Given the description of an element on the screen output the (x, y) to click on. 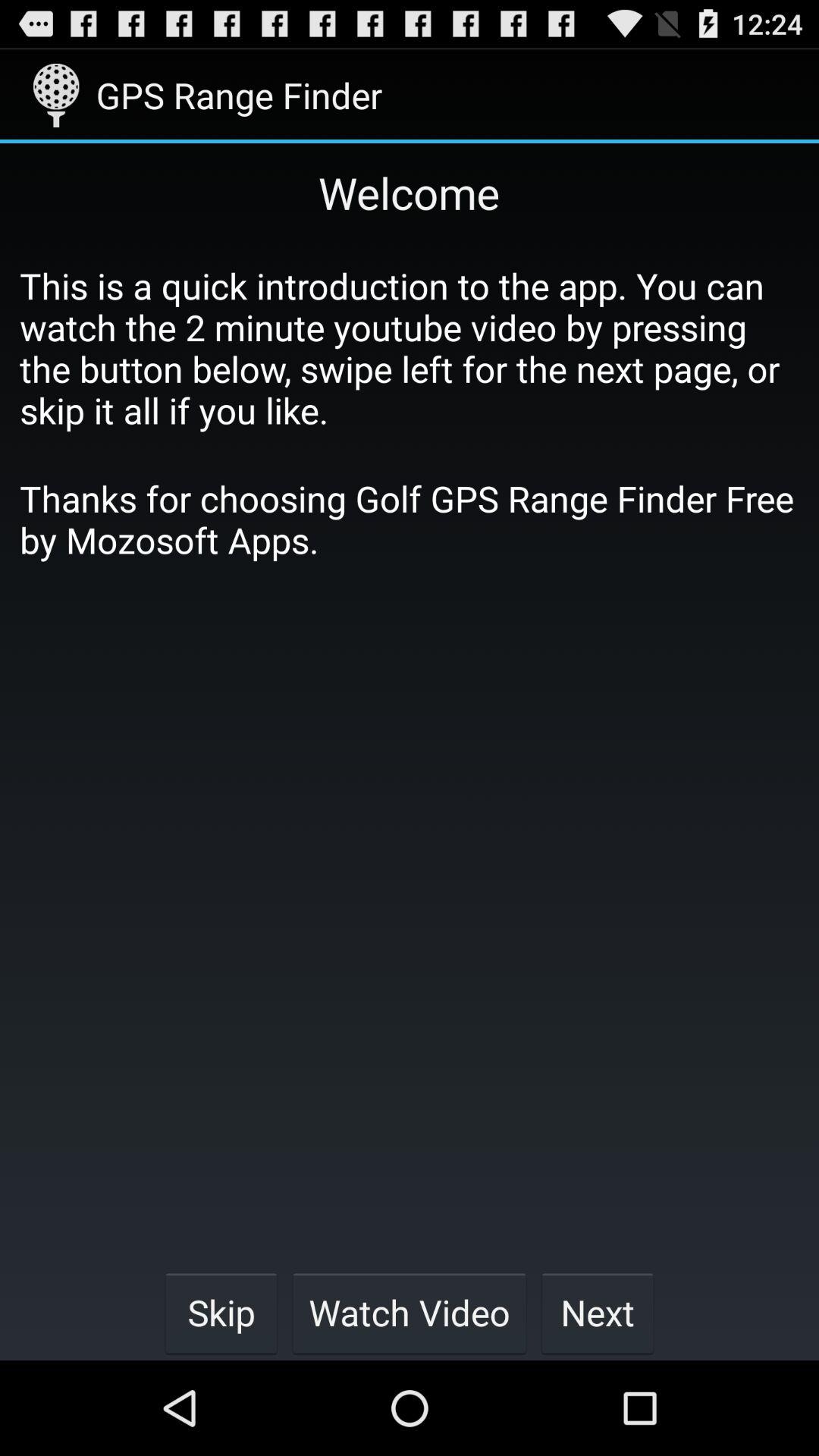
open the skip at the bottom left corner (220, 1312)
